Given the description of an element on the screen output the (x, y) to click on. 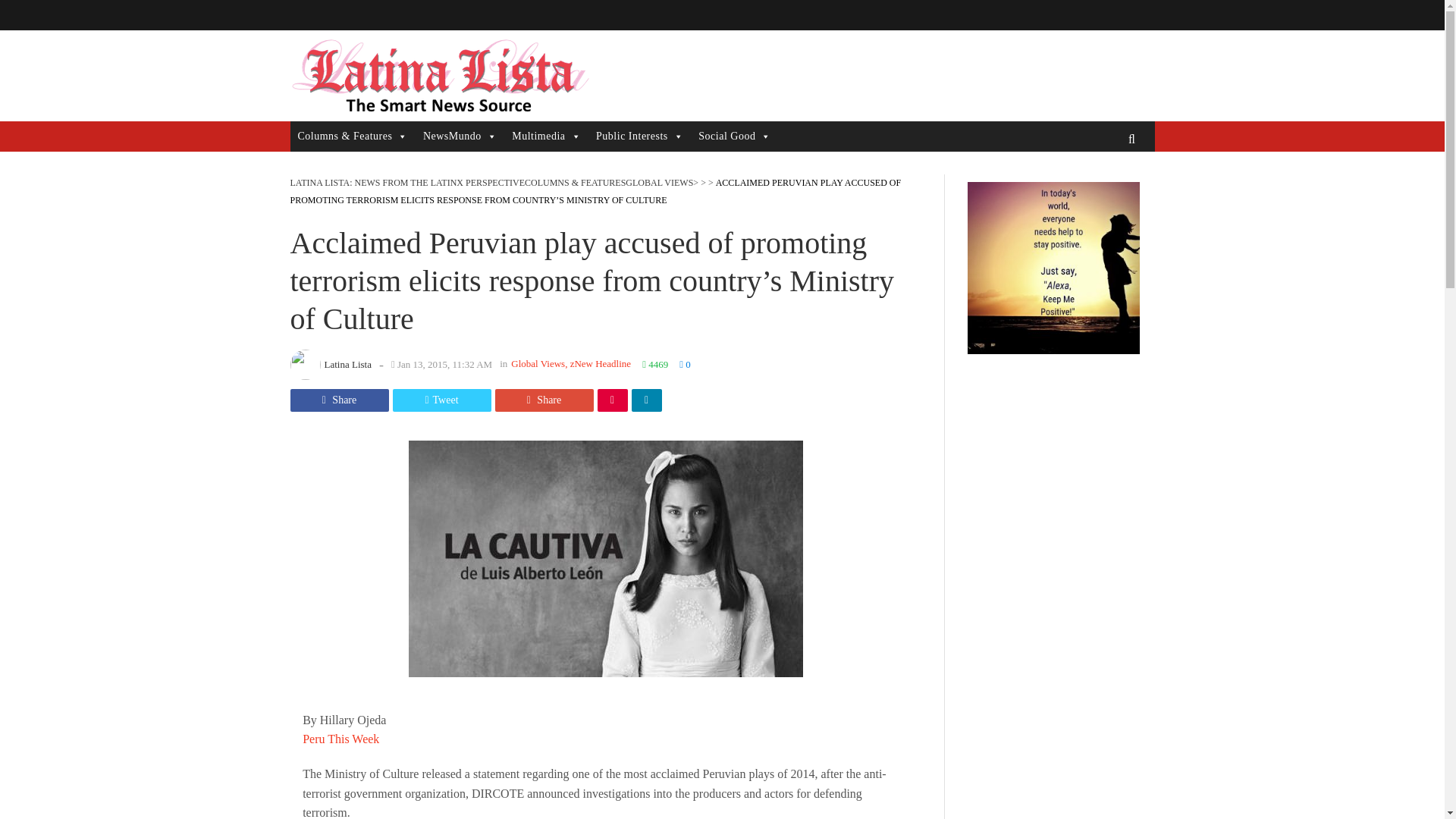
Posts by Latina Lista (347, 364)
NewsMundo (458, 136)
Go to the Global Views Category archives. (659, 182)
Go to Latina Lista: News from the Latinx perspective. (406, 182)
Latina Lista: News from the Latinx perspective (438, 75)
